Given the description of an element on the screen output the (x, y) to click on. 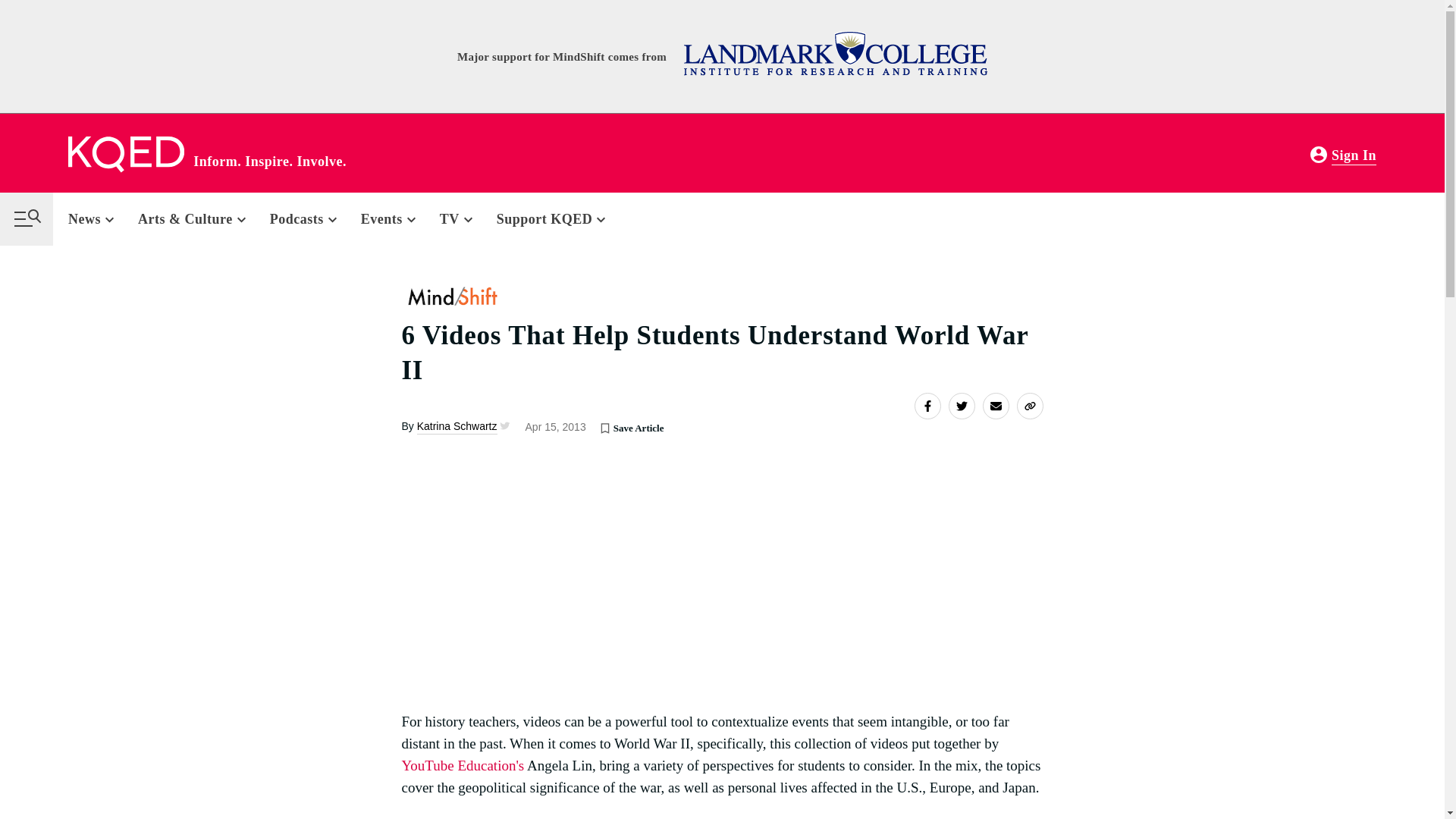
KQED (126, 154)
Save Article (604, 427)
KQED (126, 154)
Katrina Schwartz on Twitter (504, 426)
